Given the description of an element on the screen output the (x, y) to click on. 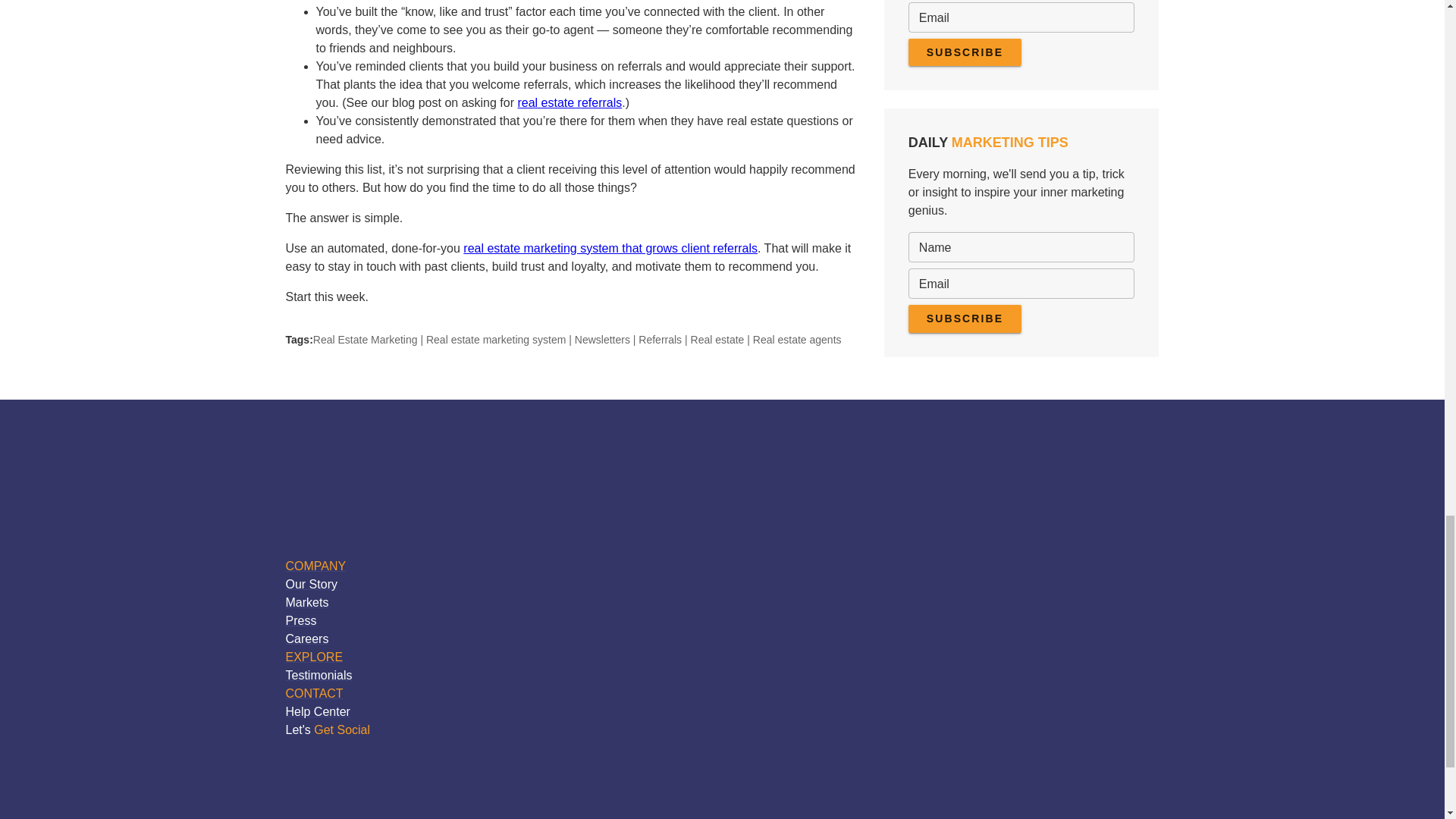
real estate marketing system that grows client referrals (610, 247)
SUBSCRIBE (965, 318)
real estate referrals (568, 102)
SUBSCRIBE (965, 52)
